Given the description of an element on the screen output the (x, y) to click on. 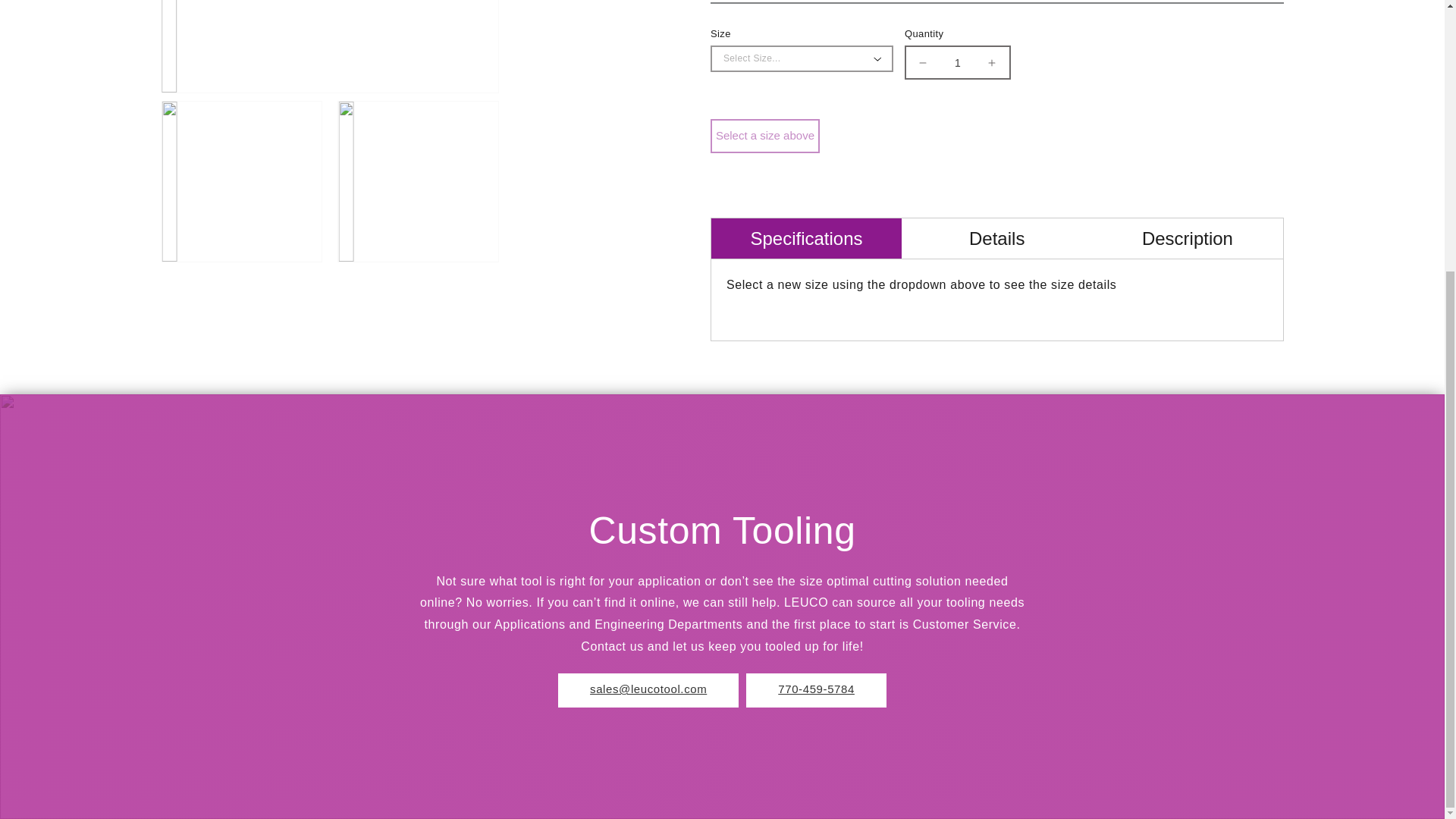
1 (957, 51)
